Given the description of an element on the screen output the (x, y) to click on. 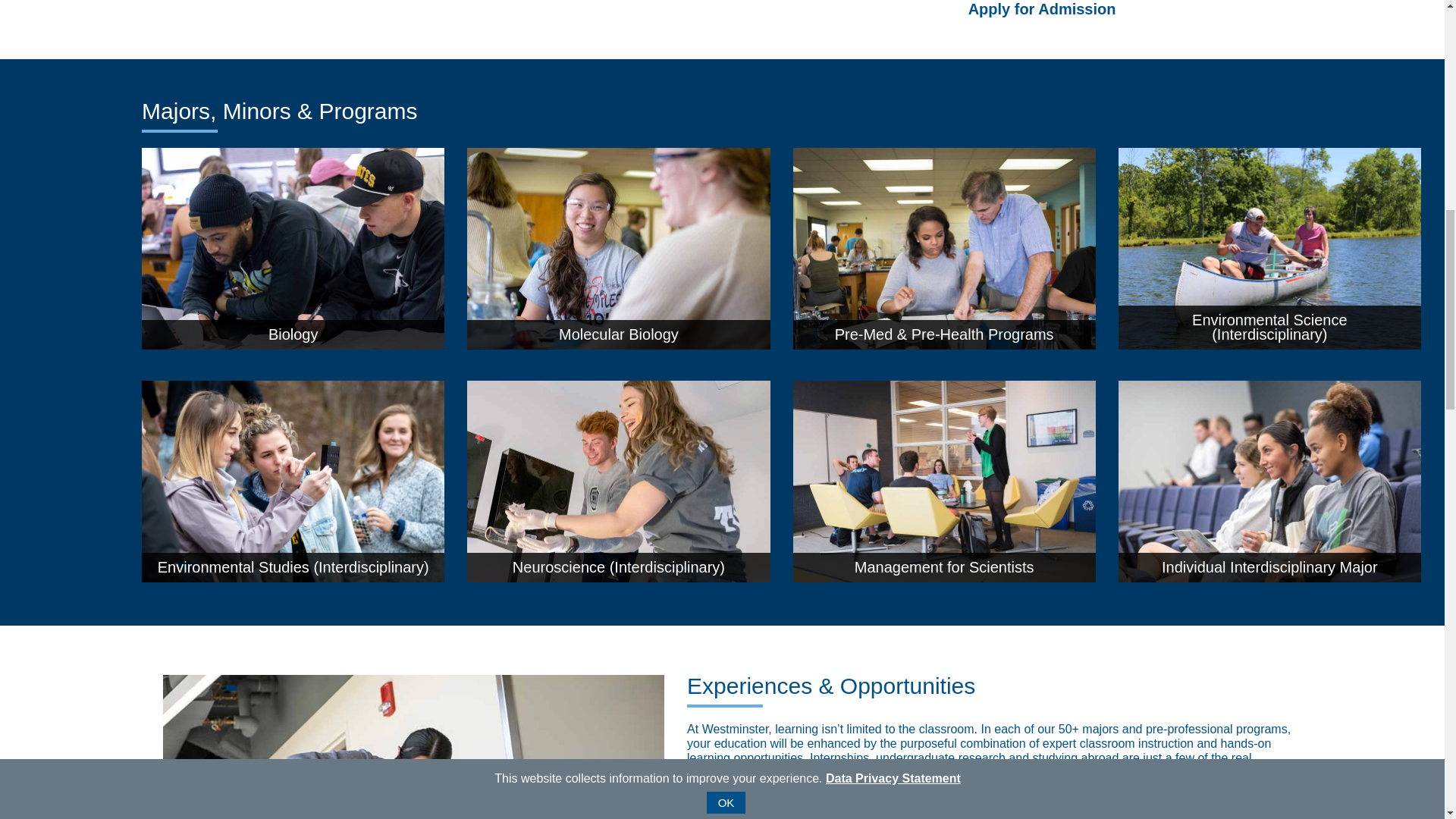
Individual Interdisciplinary Major (1269, 576)
Management for Scientists (944, 576)
Molecular Biology (618, 344)
 Apply for Admission (1039, 8)
 Learn More (730, 801)
Biology (292, 344)
